Given the description of an element on the screen output the (x, y) to click on. 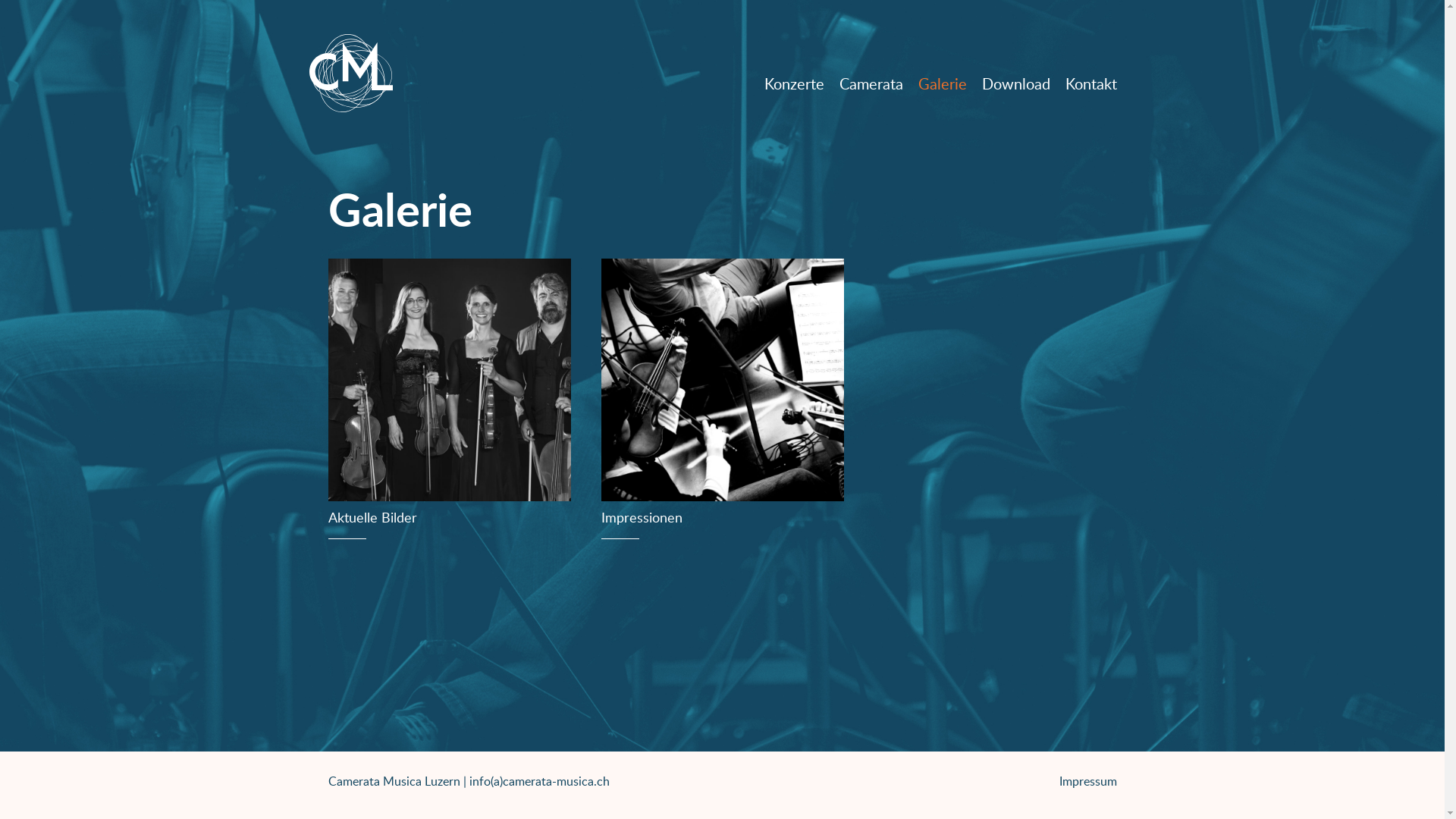
Kontakt Element type: text (1090, 86)
info(a)camerata-musica.ch Element type: text (538, 780)
Impressionen Element type: text (721, 409)
Camerata Element type: text (870, 86)
Impressum Element type: text (1087, 780)
Galerie Element type: text (941, 86)
  Element type: text (350, 75)
Download Element type: text (1015, 86)
Konzerte Element type: text (794, 86)
Aktuelle Bilder Element type: text (448, 409)
